Given the description of an element on the screen output the (x, y) to click on. 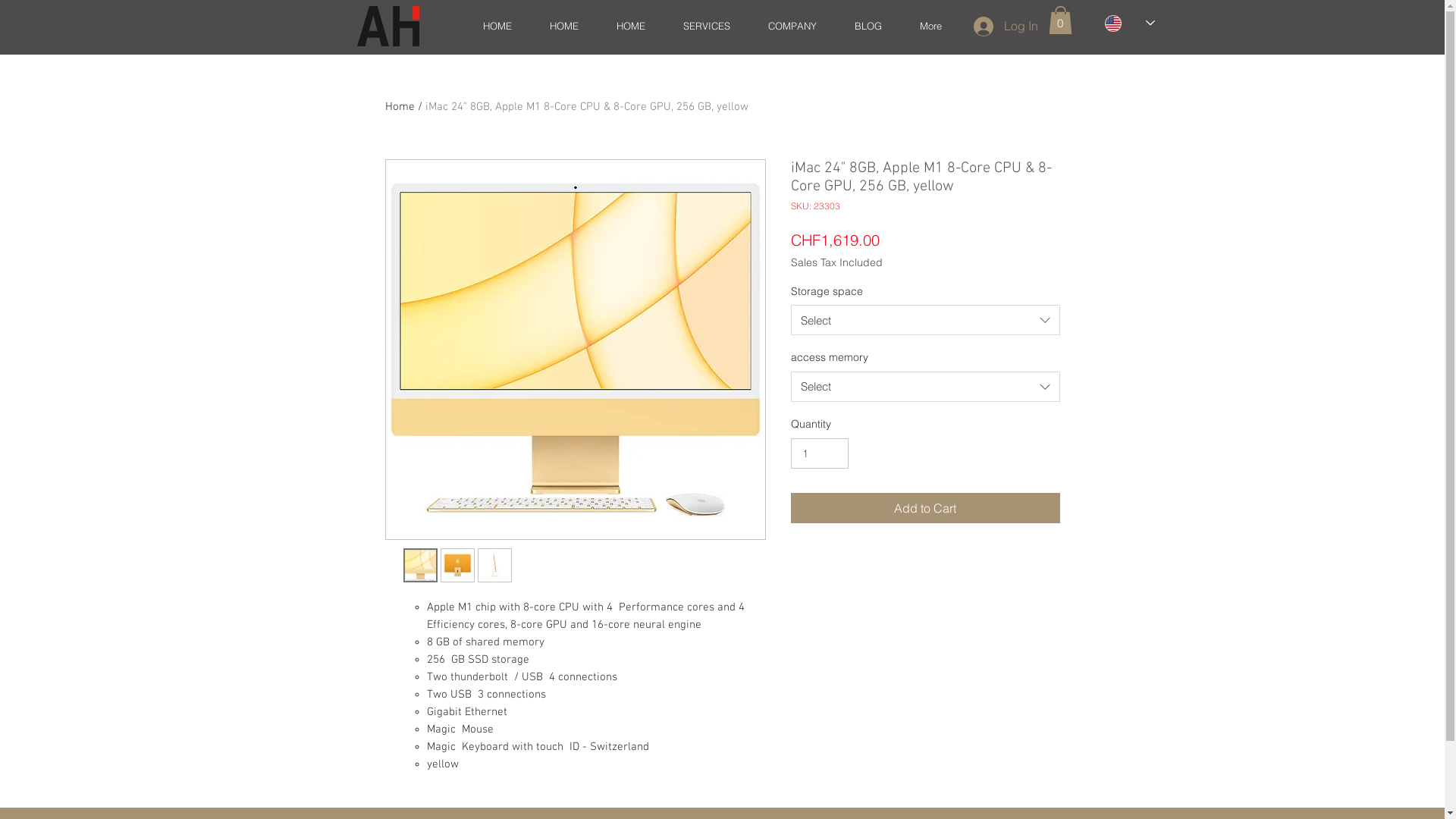
COMPANY Element type: text (792, 25)
Add to Cart Element type: text (924, 507)
0 Element type: text (1059, 20)
Select Element type: text (924, 386)
Log In Element type: text (1005, 26)
HOME Element type: text (630, 25)
SERVICES Element type: text (706, 25)
BLOG Element type: text (867, 25)
Home Element type: text (399, 106)
HOME Element type: text (563, 25)
Select Element type: text (924, 319)
HOME Element type: text (497, 25)
